Given the description of an element on the screen output the (x, y) to click on. 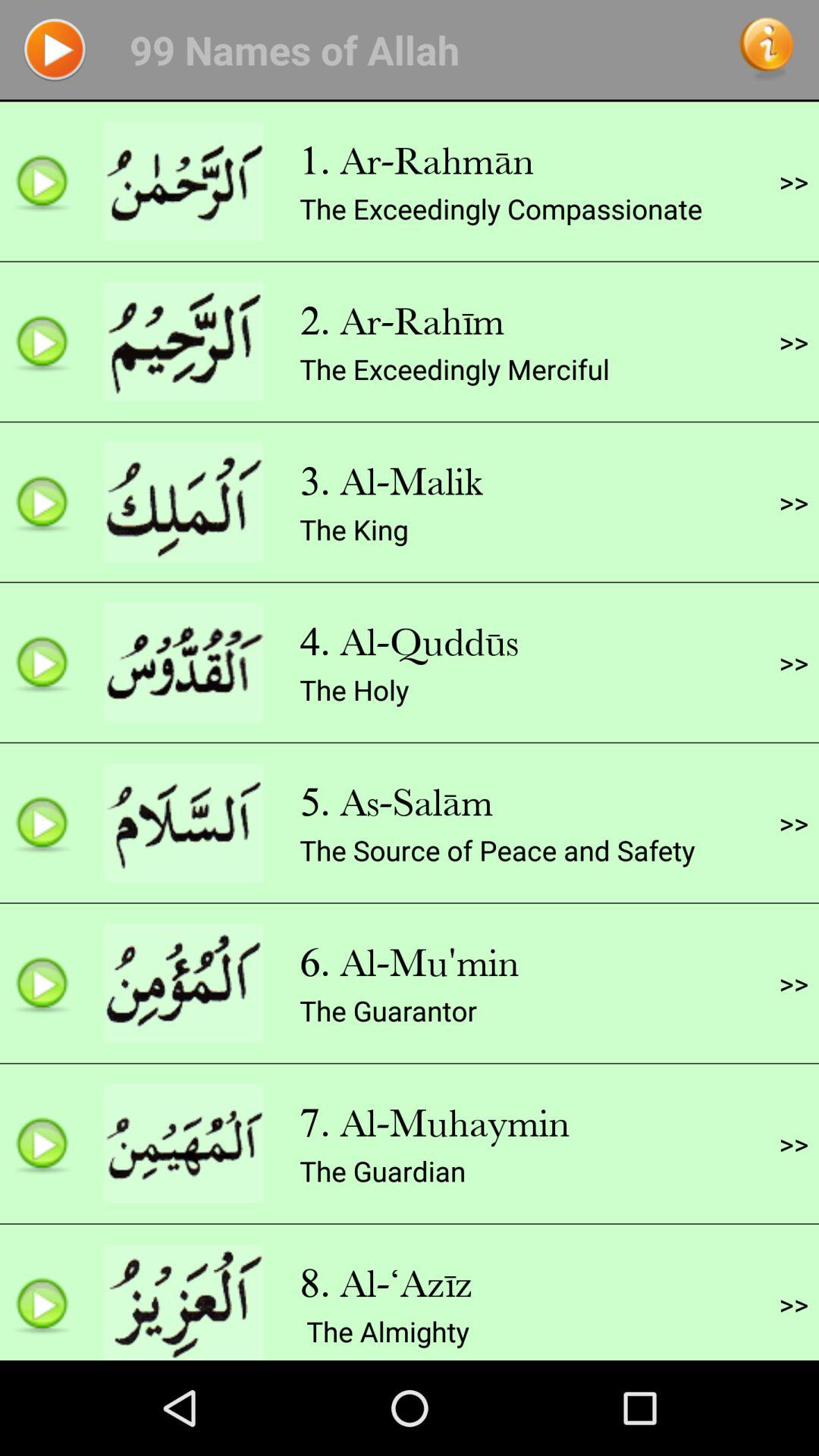
jump until >> app (793, 662)
